Given the description of an element on the screen output the (x, y) to click on. 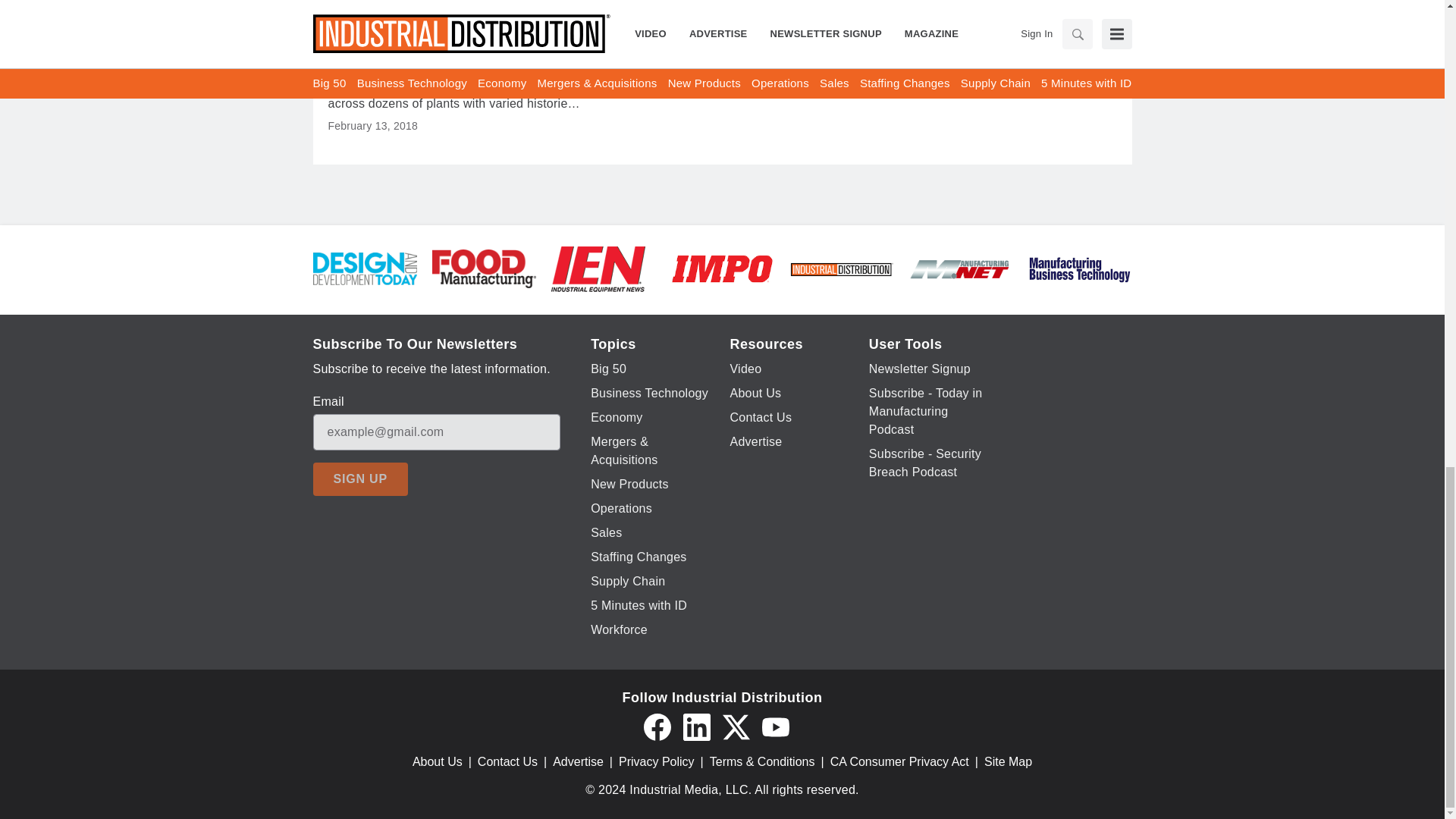
Visit Industrial Distribution (841, 268)
YouTube icon (775, 727)
Visit us on Facebook (656, 727)
LinkedIn icon (696, 727)
Visit Manufacturing.net (959, 267)
Facebook icon (656, 727)
Visit us on Twitter (735, 727)
Visit Manufacturing Business Technology (1079, 267)
Visit us on Linkedin (696, 727)
Visit Food Manufacturing (483, 267)
Twitter X icon (735, 727)
Visit IMPO (721, 267)
